Given the description of an element on the screen output the (x, y) to click on. 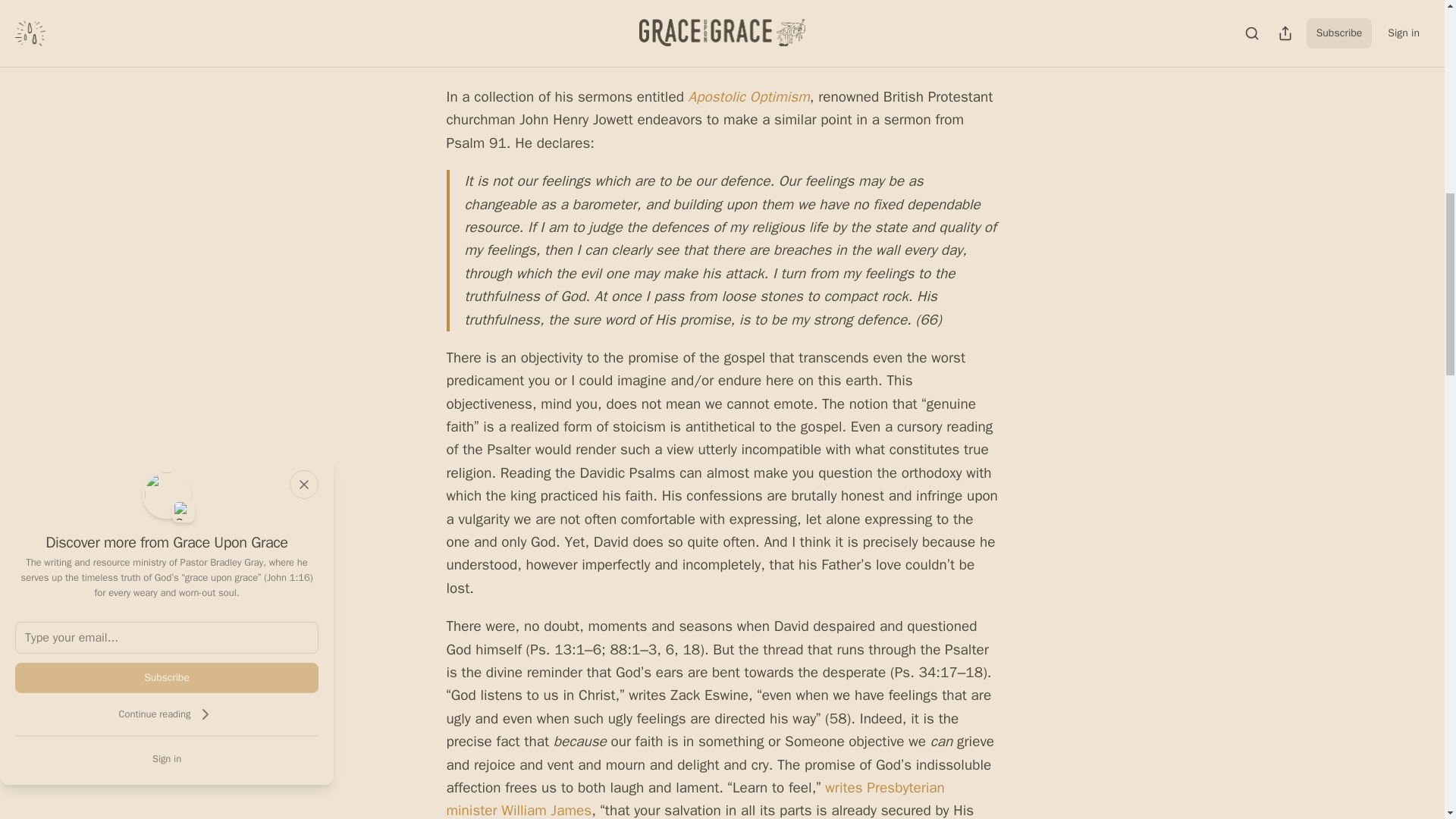
Subscribe (166, 677)
Sign in (166, 758)
writes Presbyterian minister William James (694, 798)
Apostolic Optimism (748, 96)
